Given the description of an element on the screen output the (x, y) to click on. 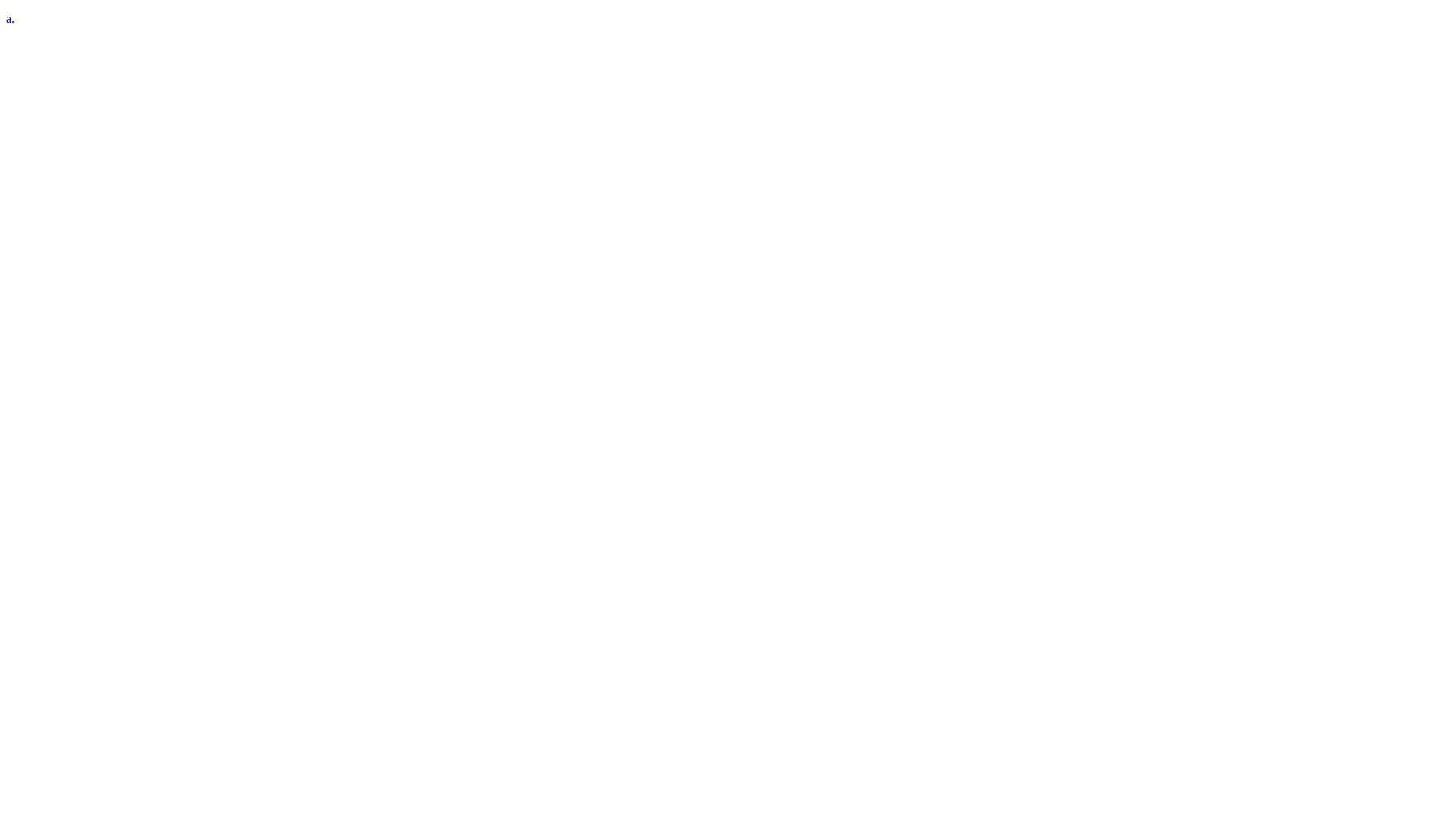
a. Element type: text (10, 18)
